Given the description of an element on the screen output the (x, y) to click on. 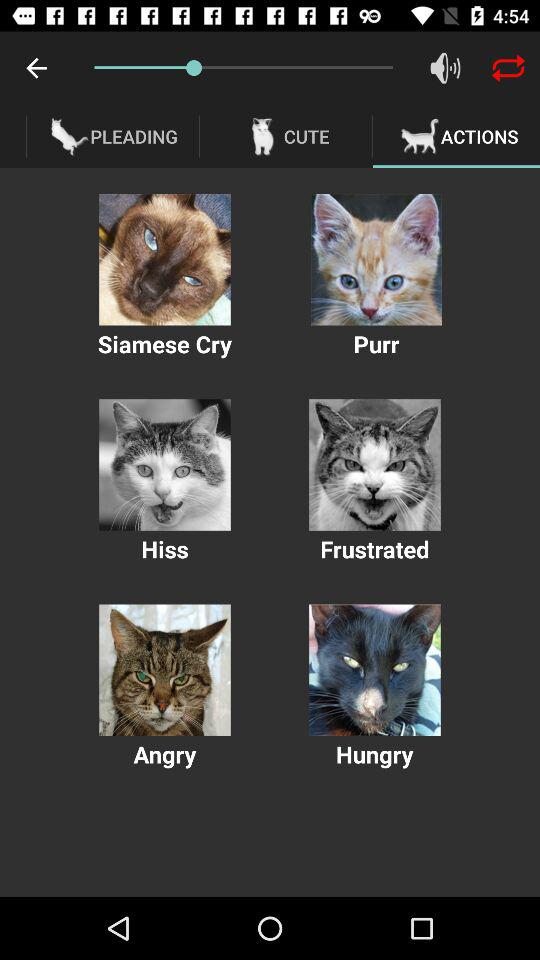
play sound (376, 259)
